Given the description of an element on the screen output the (x, y) to click on. 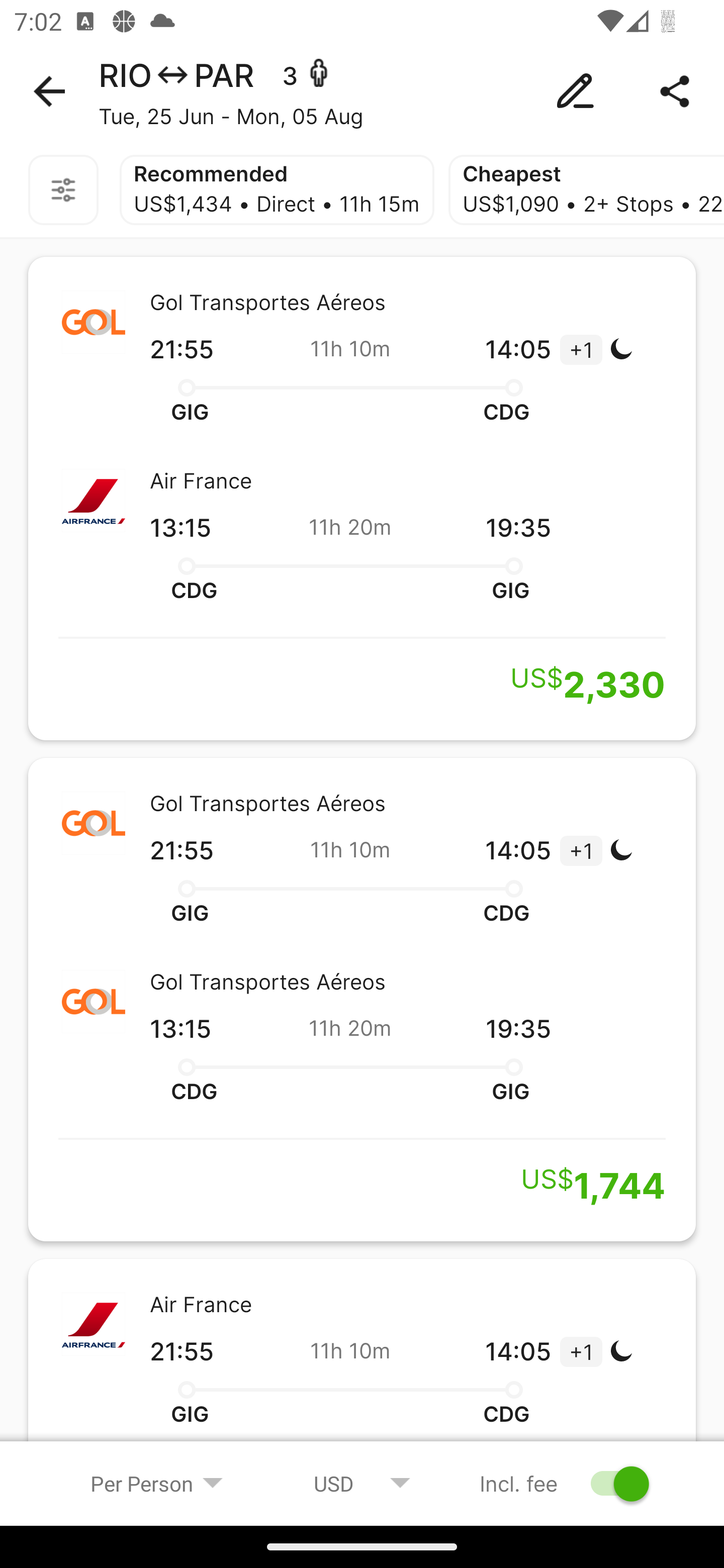
RIO PAR   3 - Tue, 25 Jun - Mon, 05 Aug (361, 91)
Recommended  US$1,434 • Direct • 11h 15m (276, 190)
Cheapest US$1,090 • 2+ Stops • 22h 10m (586, 190)
Per Person (156, 1482)
USD (361, 1482)
